Given the description of an element on the screen output the (x, y) to click on. 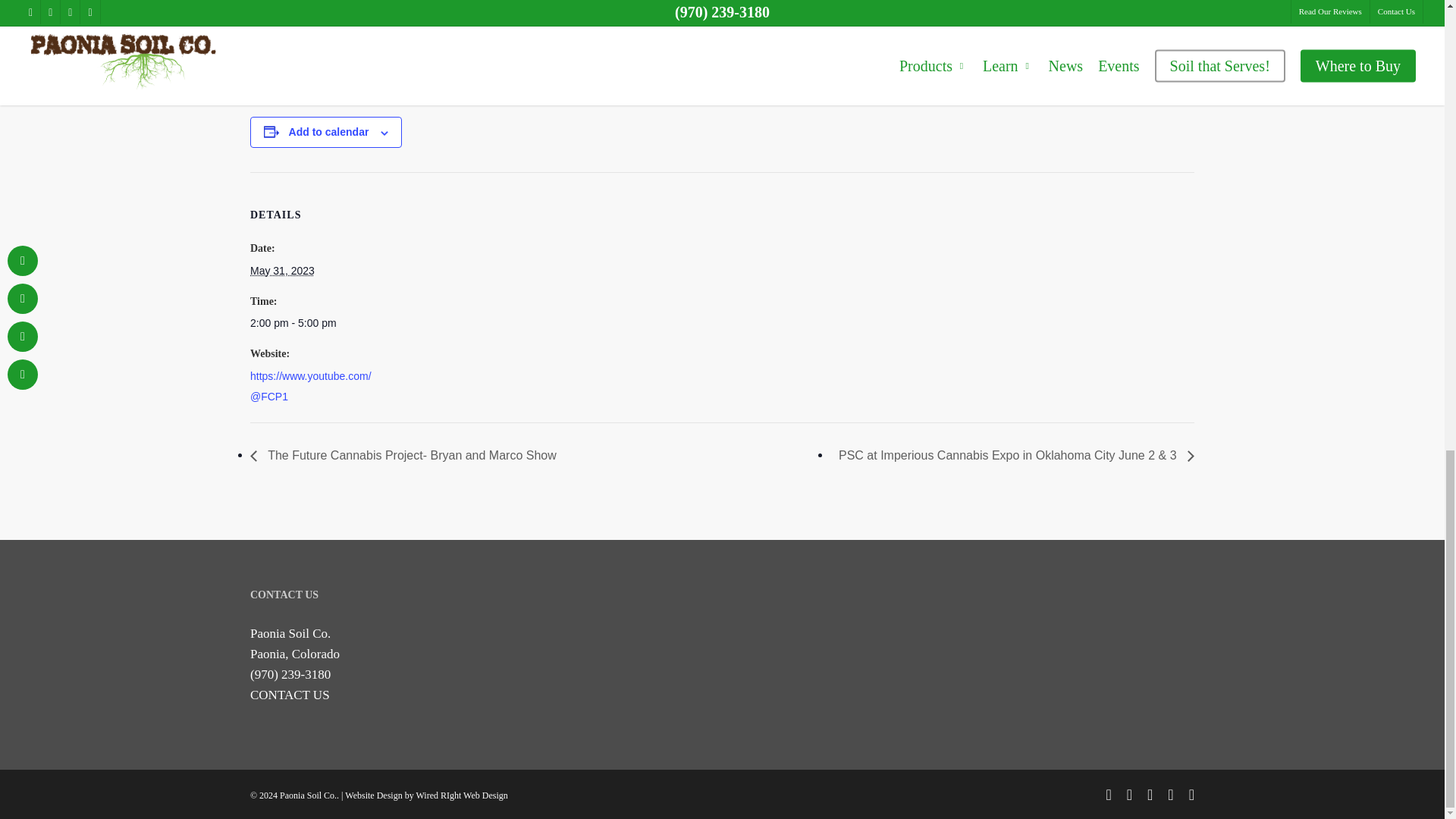
2023-05-31 (313, 322)
2023-05-31 (282, 270)
